Given the description of an element on the screen output the (x, y) to click on. 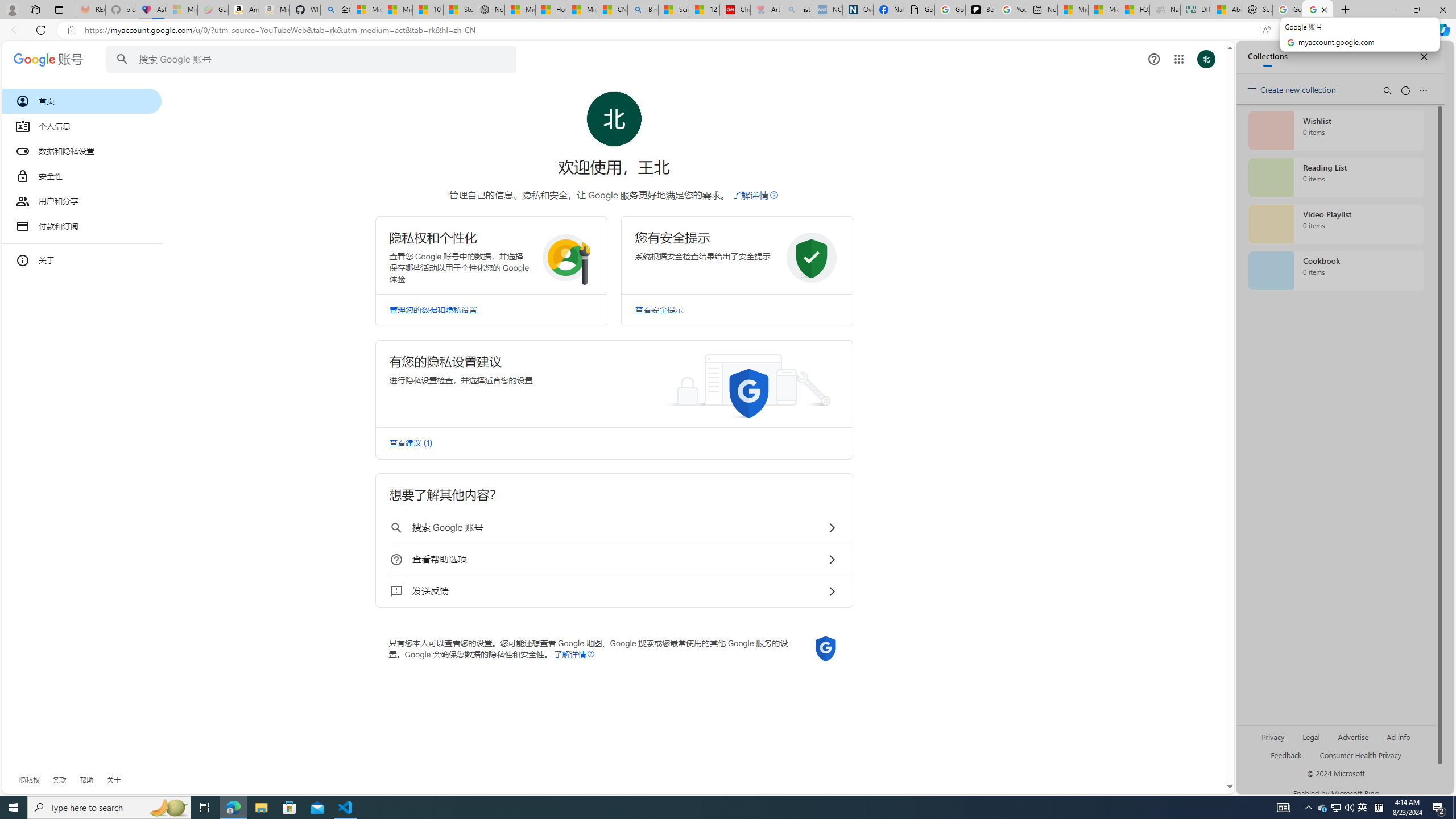
CNN - MSN (611, 9)
Bing (642, 9)
